Given the description of an element on the screen output the (x, y) to click on. 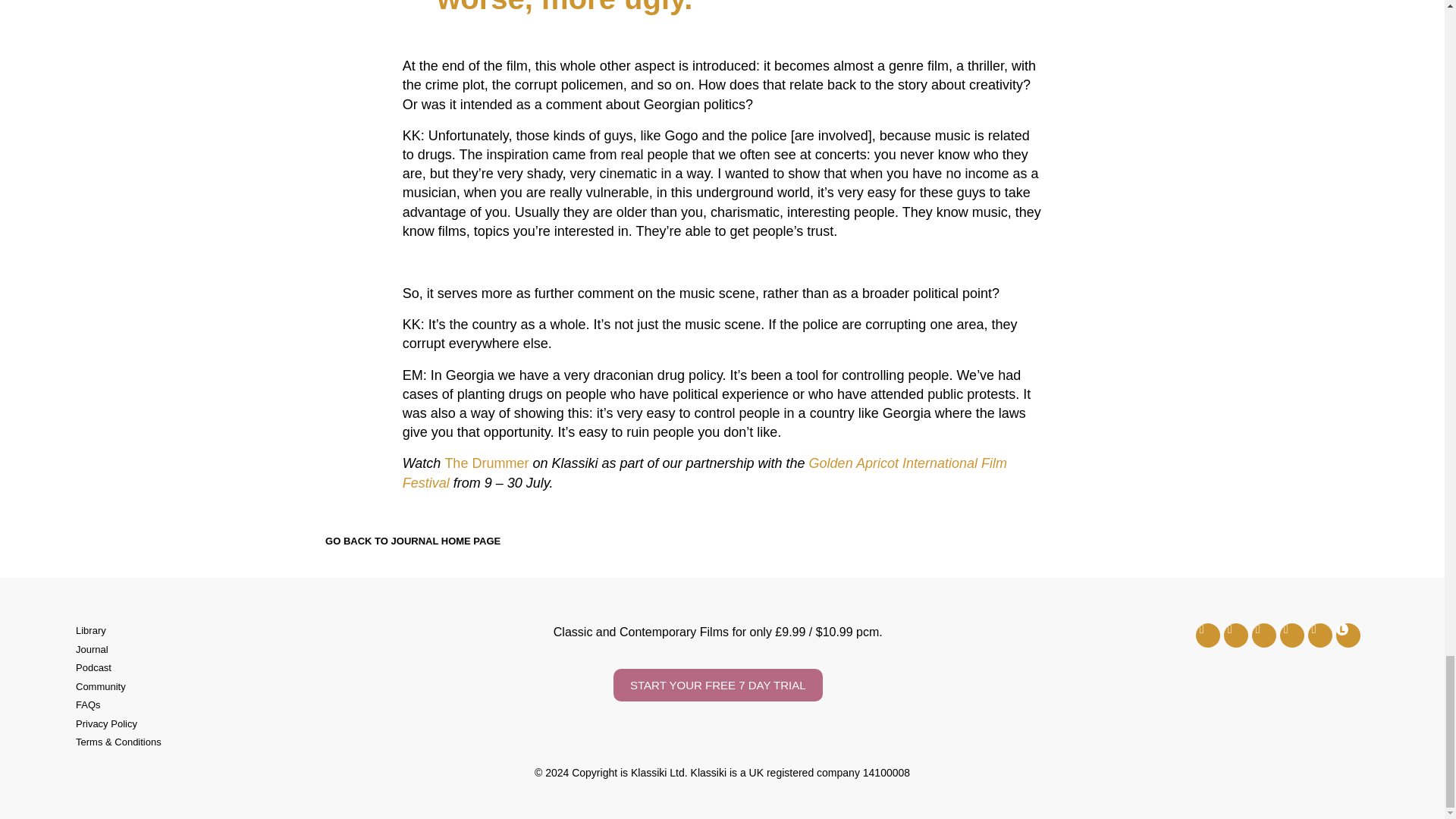
Community (269, 686)
FAQs (269, 704)
GO BACK TO JOURNAL HOME PAGE (400, 541)
Golden Apricot International Film Festival (705, 472)
The Drummer (486, 462)
START YOUR FREE 7 DAY TRIAL (717, 685)
Podcast (269, 667)
Privacy Policy (269, 724)
Journal (269, 649)
Library (269, 630)
